Given the description of an element on the screen output the (x, y) to click on. 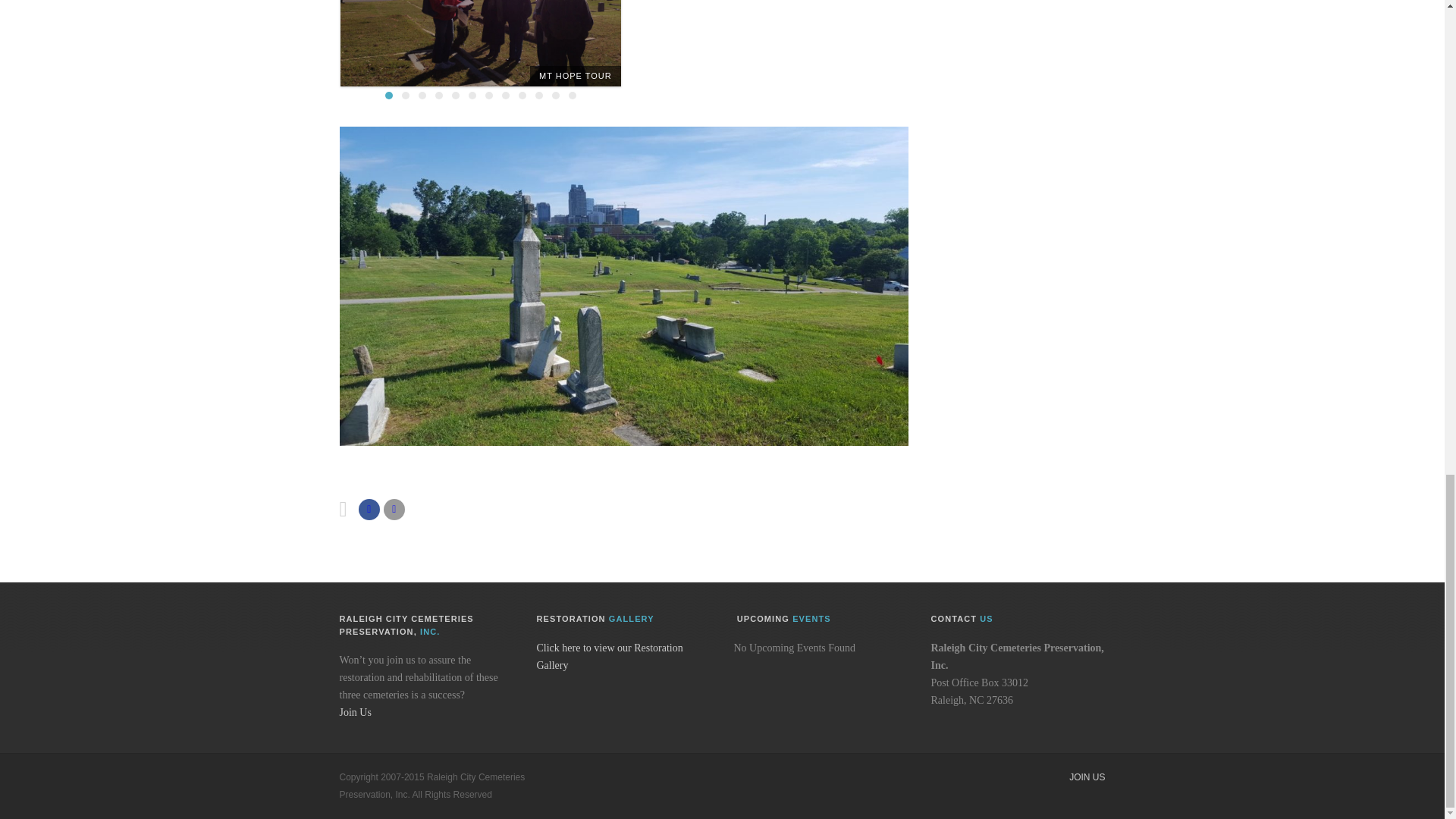
3 (422, 95)
Share on Facebook (369, 509)
Join Us (355, 712)
Click here to view our Restoration Gallery (609, 656)
2 (405, 95)
Email (394, 509)
1 (389, 95)
